Given the description of an element on the screen output the (x, y) to click on. 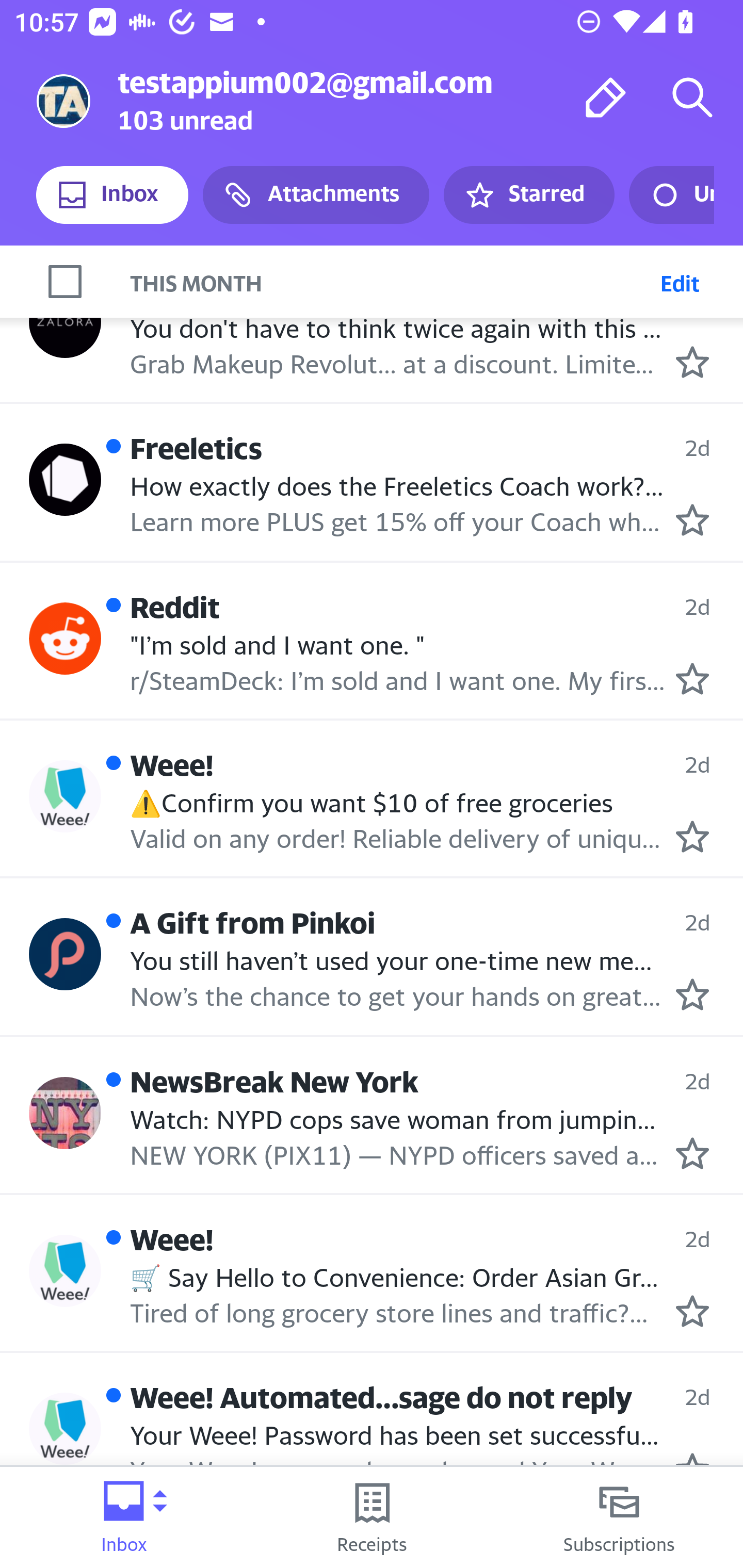
Compose (605, 97)
Search mail (692, 97)
Attachments (315, 195)
Starred (528, 195)
Mark as starred. (692, 361)
Profile
Freeletics (64, 479)
Mark as starred. (692, 519)
Profile
Reddit (64, 638)
Mark as starred. (692, 678)
Profile
Weee! (64, 796)
Mark as starred. (692, 836)
Profile
A Gift from Pinkoi (64, 954)
Mark as starred. (692, 994)
Profile
NewsBreak New York (64, 1113)
Mark as starred. (692, 1153)
Profile
Weee! (64, 1271)
Mark as starred. (692, 1311)
Profile
Weee! Automated message do not reply (64, 1428)
Inbox Folder picker (123, 1517)
Receipts (371, 1517)
Subscriptions (619, 1517)
